Given the description of an element on the screen output the (x, y) to click on. 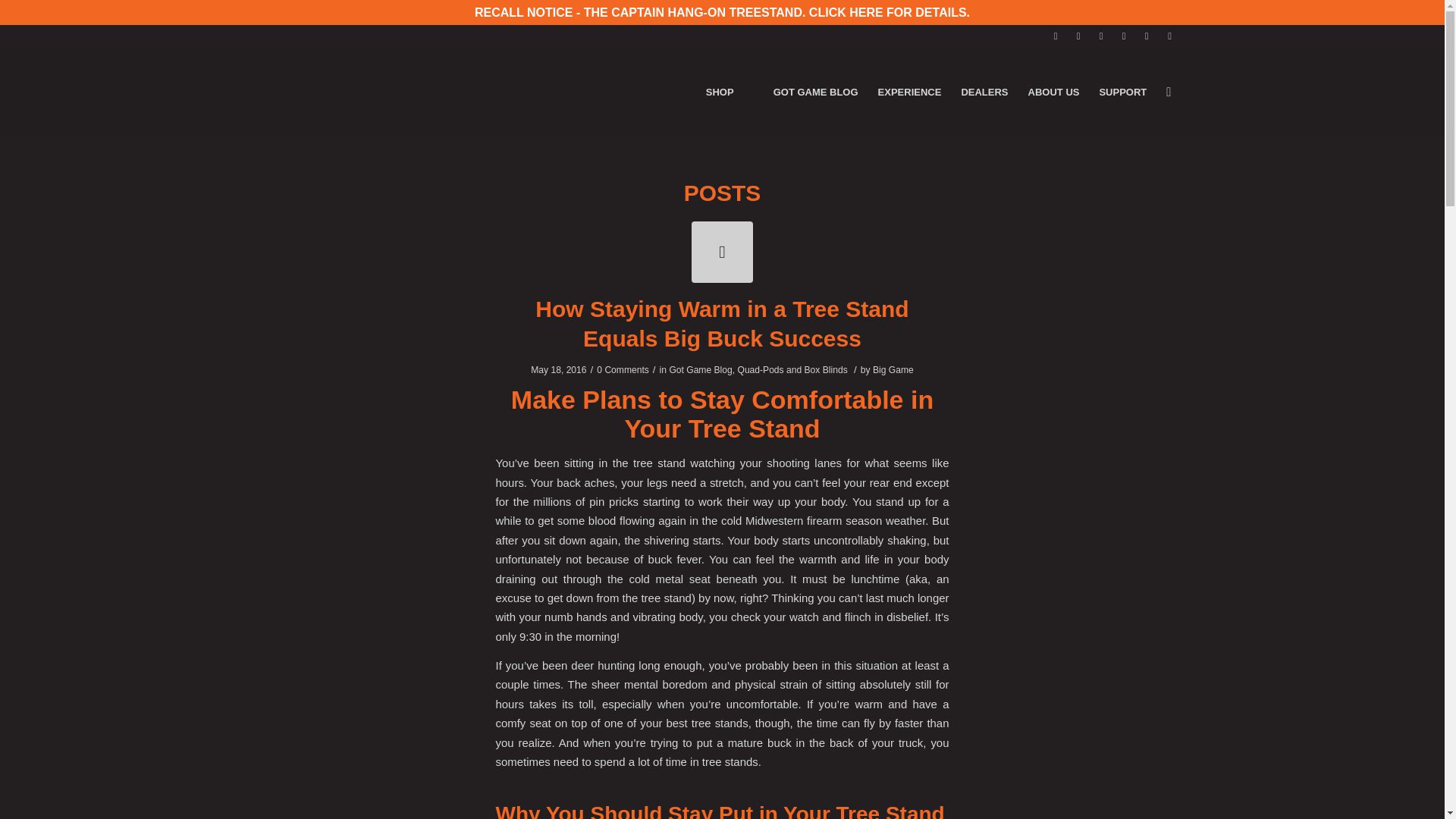
Instagram (1101, 36)
Posts by Big Game (893, 369)
EXPERIENCE (909, 92)
GOT GAME BLOG (814, 92)
Youtube (1146, 36)
How Staying Warm in a Tree Stand Equals Big Buck Success (721, 251)
Facebook (1056, 36)
Gplus (1169, 36)
Pinterest (1124, 36)
Twitter (1078, 36)
